Given the description of an element on the screen output the (x, y) to click on. 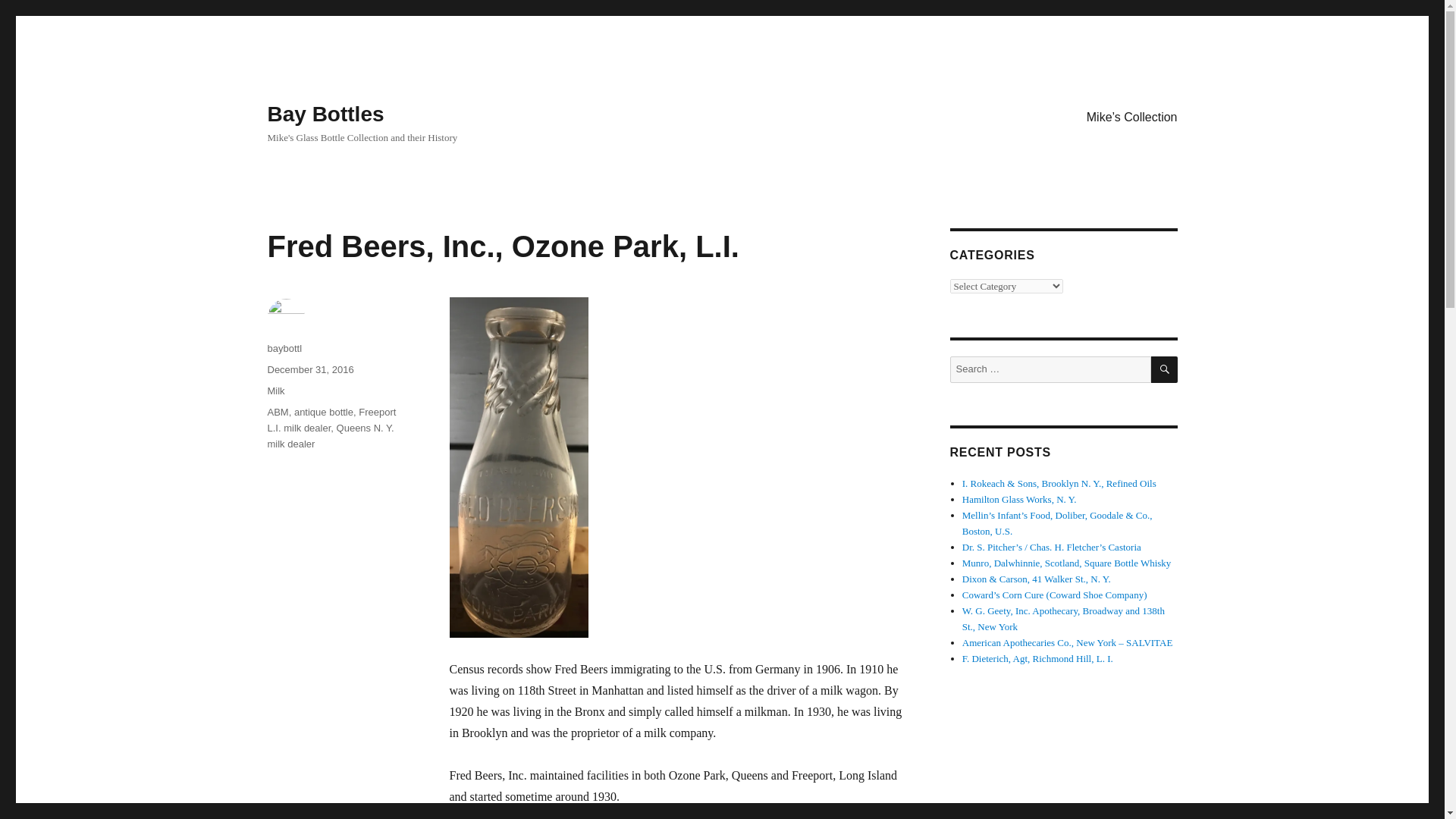
baybottl (283, 348)
ABM (277, 411)
Hamilton Glass Works, N. Y. (1019, 499)
SEARCH (1164, 369)
December 31, 2016 (309, 369)
Queens N. Y. milk dealer (329, 435)
Munro, Dalwhinnie, Scotland, Square Bottle Whisky (1067, 562)
Bay Bottles (325, 114)
Milk (274, 390)
